Given the description of an element on the screen output the (x, y) to click on. 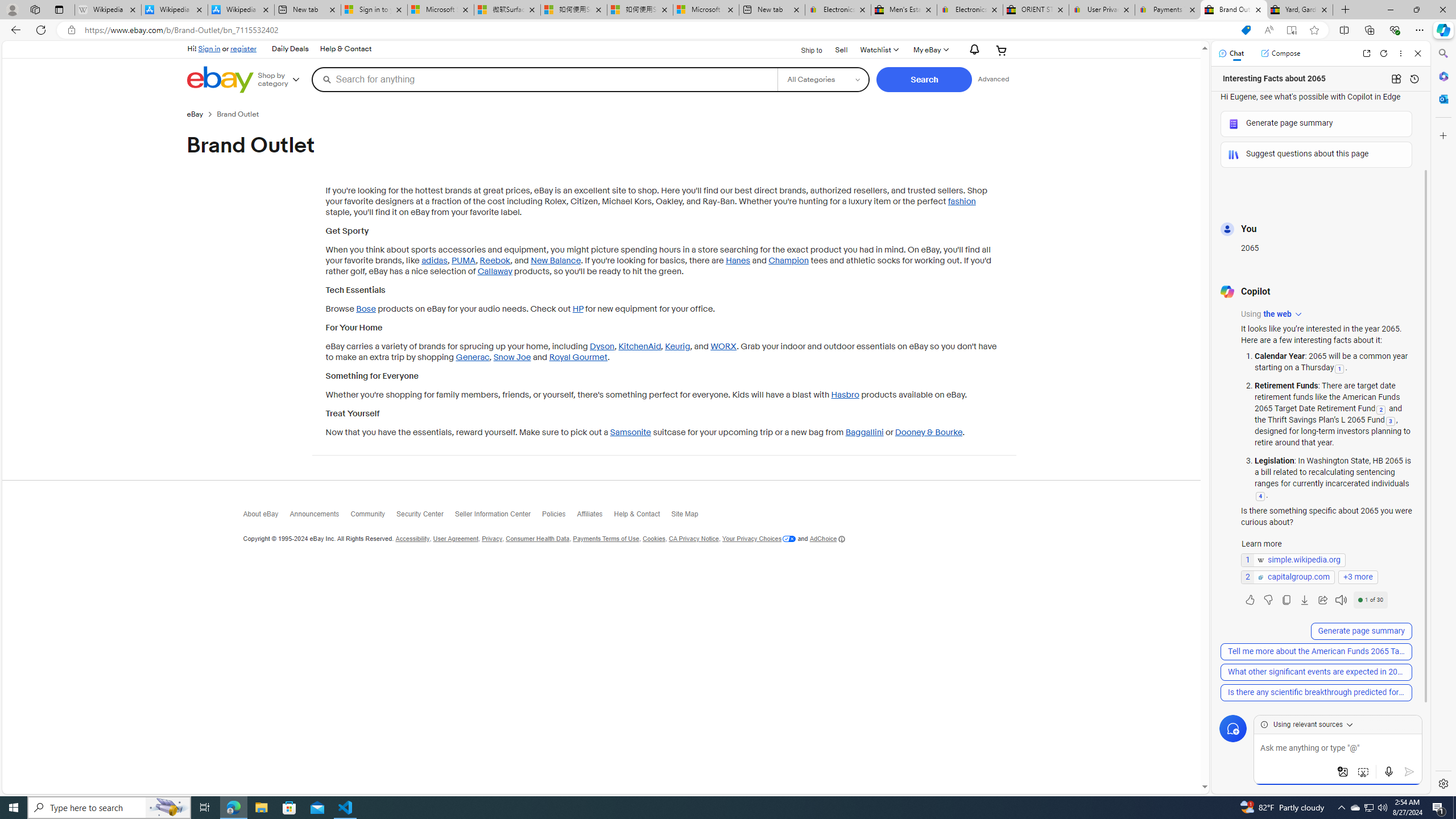
Baggallini (863, 432)
Expand Cart (1001, 49)
KitchenAid (639, 346)
fashion (961, 201)
eBay (194, 113)
Community (373, 516)
Champion (788, 260)
Watchlist (878, 49)
Royal Gourmet (578, 357)
Announcements (319, 516)
